Given the description of an element on the screen output the (x, y) to click on. 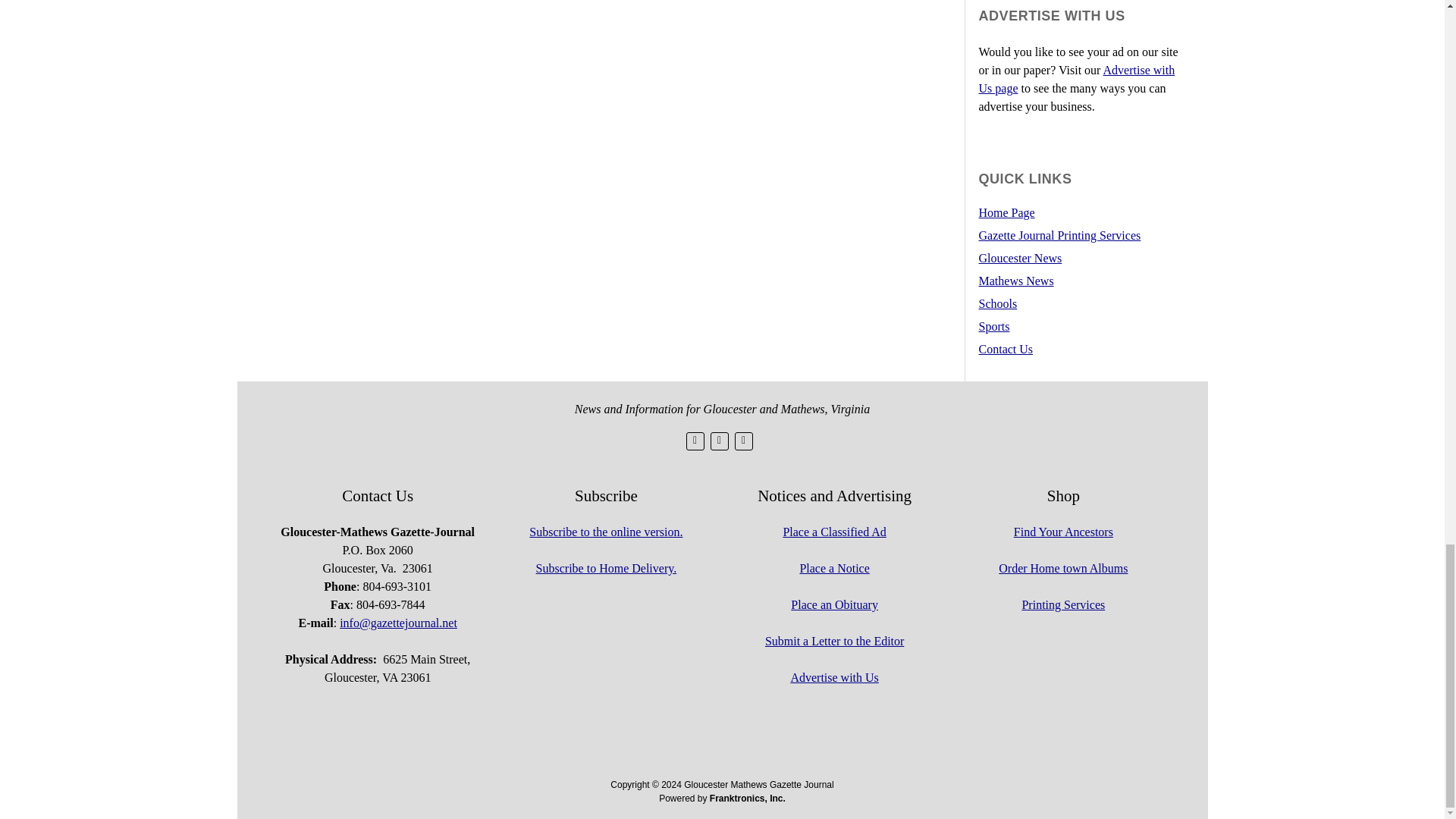
twitter (694, 441)
facebook (719, 441)
instagram (742, 441)
